Given the description of an element on the screen output the (x, y) to click on. 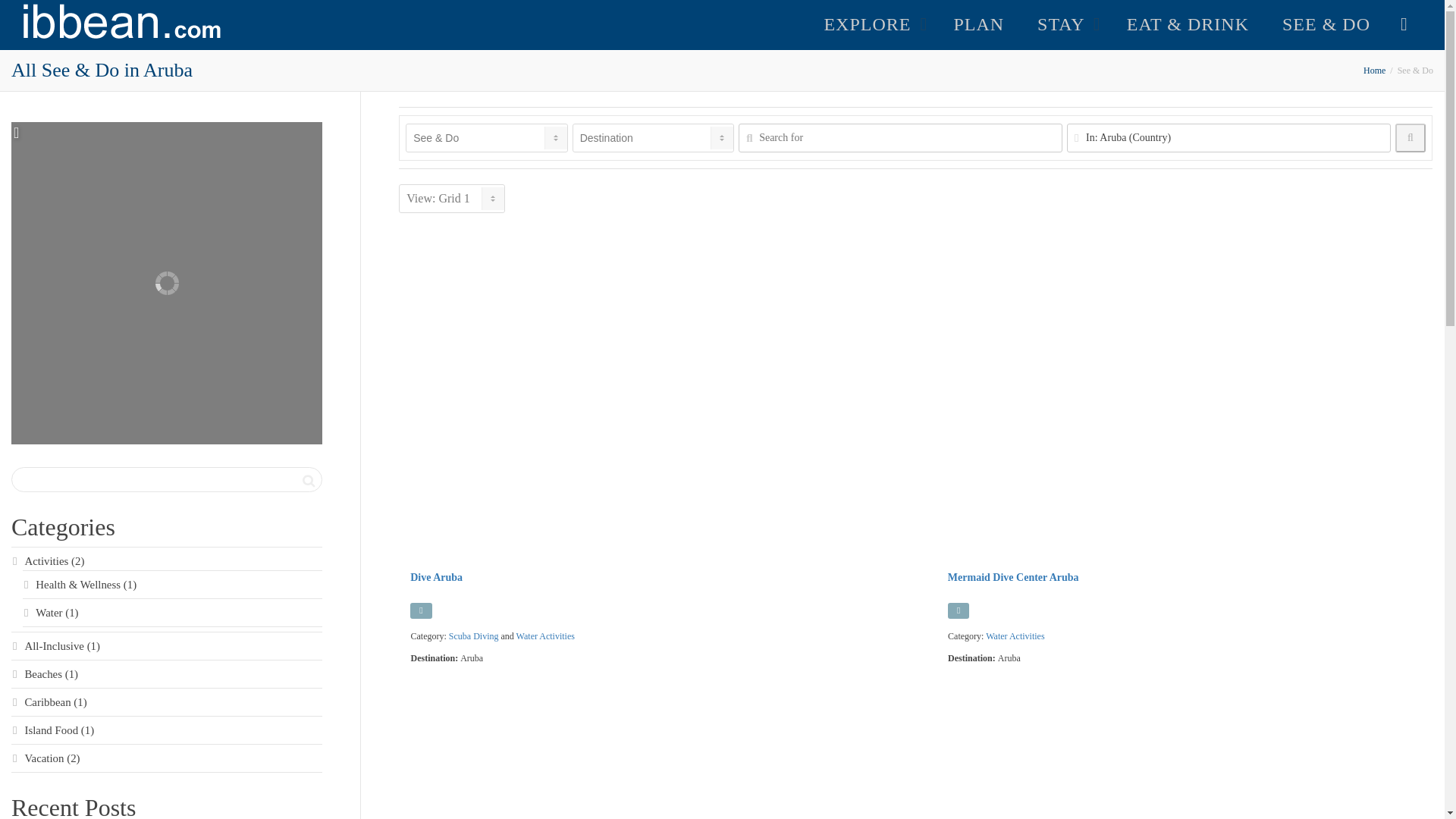
Dive Aruba (436, 577)
PLAN (978, 24)
Water Activities (545, 635)
PLAN (978, 24)
STAY (1064, 24)
ibbean.com (1374, 70)
ibbean.com (122, 21)
Scuba Diving (473, 635)
EXPLORE (872, 24)
Water Activities (1014, 635)
Home (1374, 70)
EXPLORE (872, 24)
STAY (1064, 24)
Mermaid Dive Center Aruba (1012, 577)
